Given the description of an element on the screen output the (x, y) to click on. 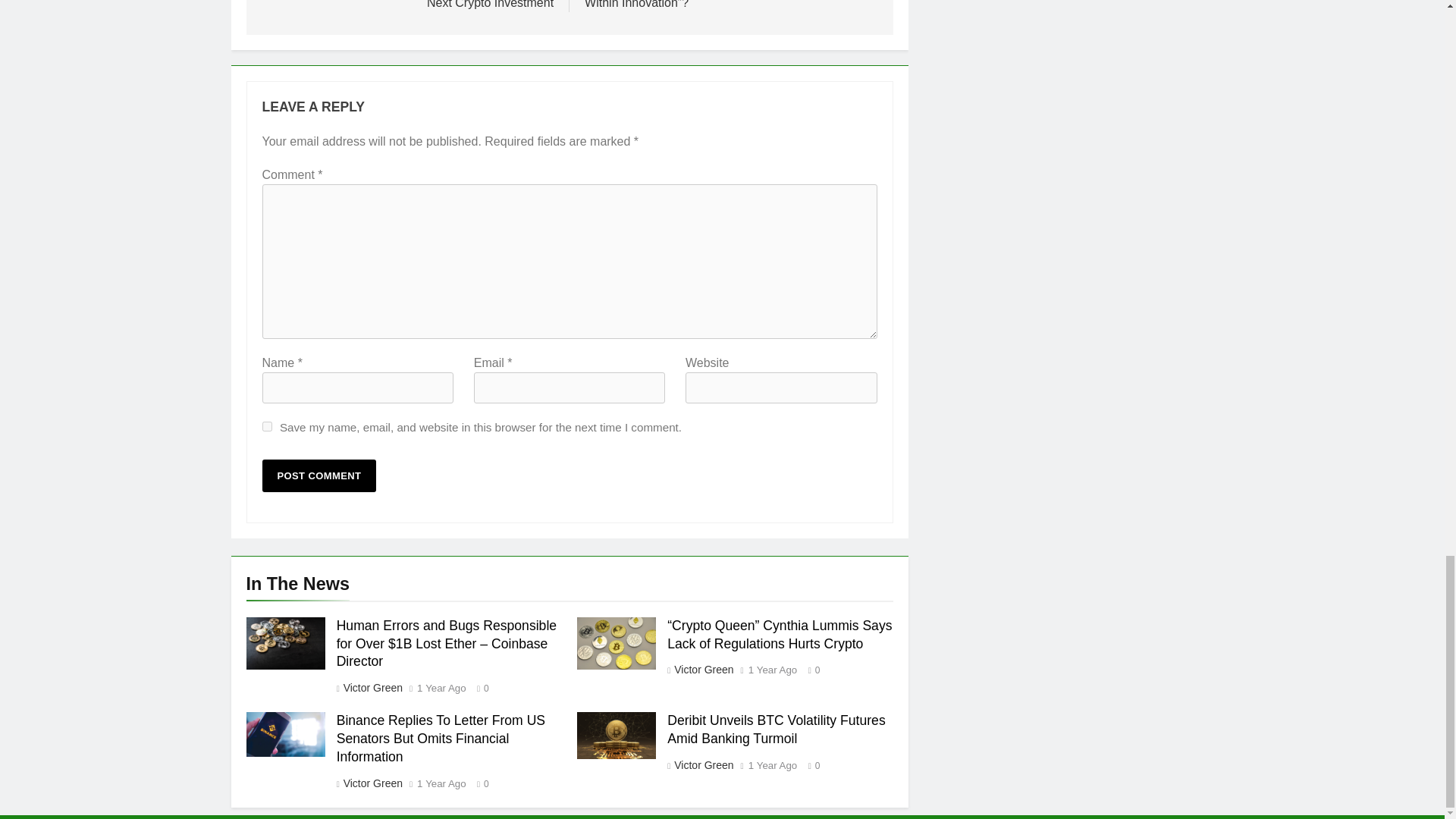
yes (267, 426)
Post Comment (319, 475)
